Given the description of an element on the screen output the (x, y) to click on. 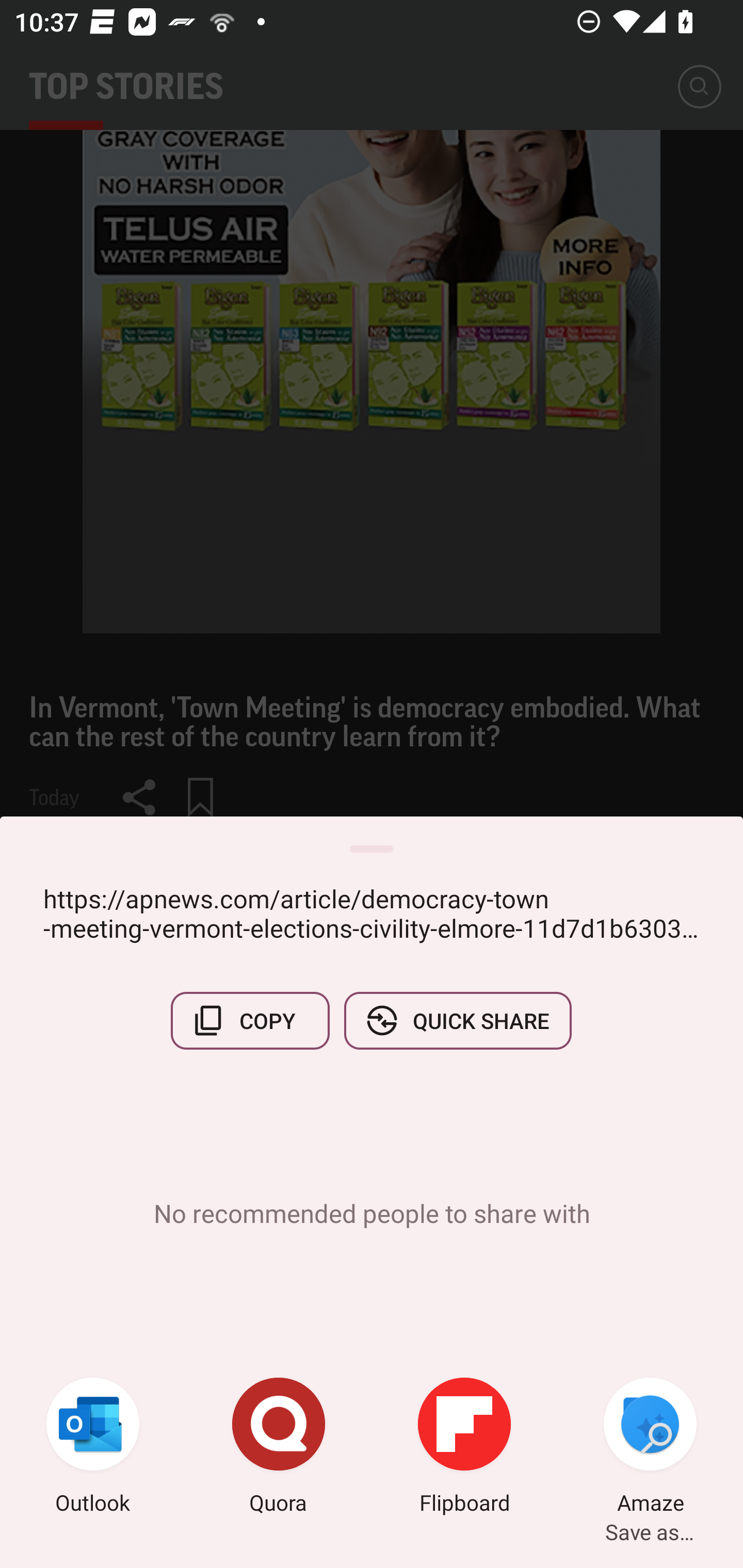
COPY (249, 1020)
QUICK SHARE (457, 1020)
Outlook (92, 1448)
Quora (278, 1448)
Flipboard (464, 1448)
Amaze Save as… (650, 1448)
